Given the description of an element on the screen output the (x, y) to click on. 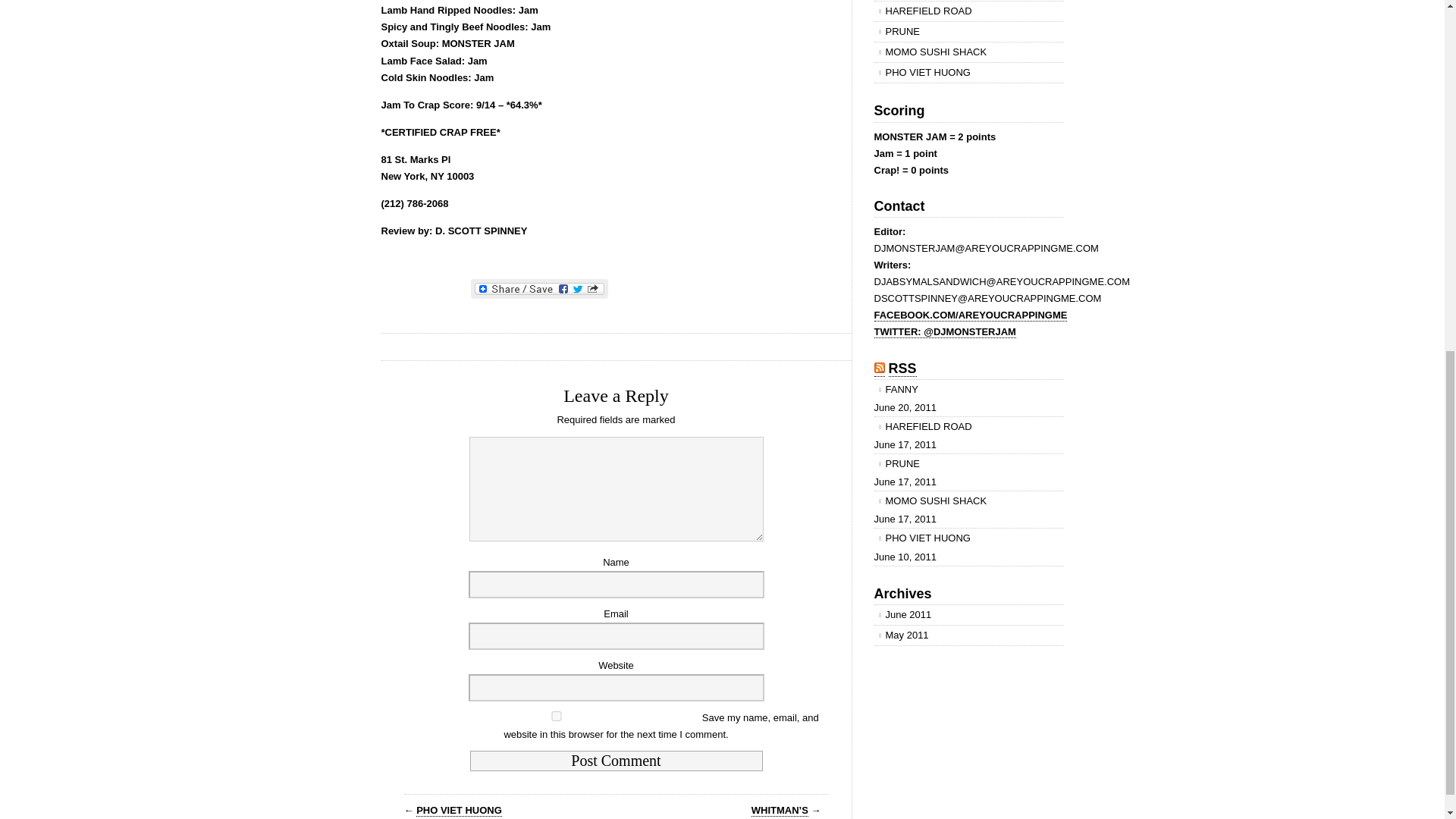
PRUNE (967, 31)
MOMO SUSHI SHACK (967, 52)
Post Comment (616, 761)
Post Comment (616, 761)
PHO VIET HUONG (967, 72)
HAREFIELD ROAD (967, 11)
yes (556, 716)
PHO VIET HUONG (459, 810)
